Given the description of an element on the screen output the (x, y) to click on. 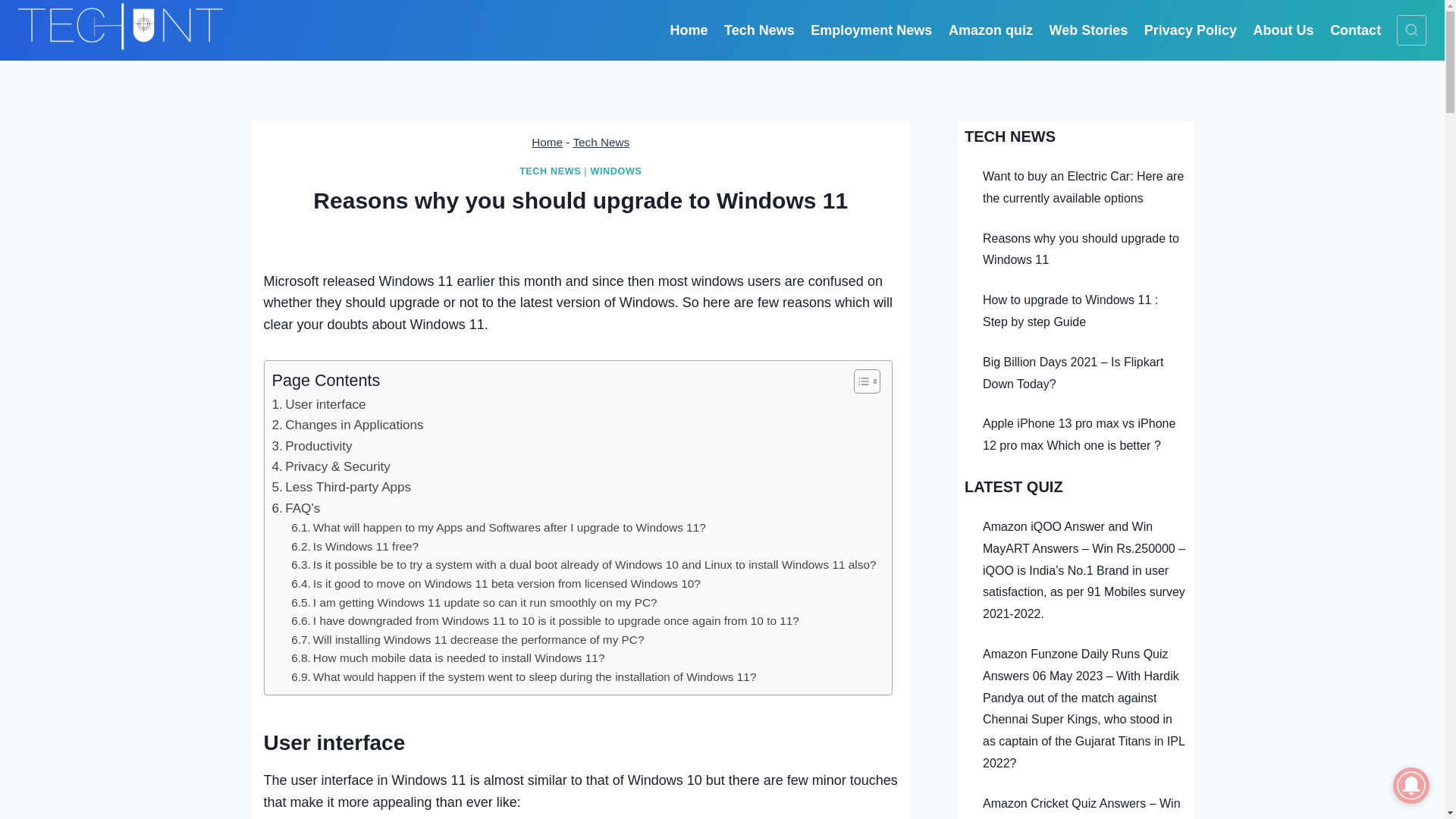
Changes in Applications (346, 424)
Jnyanendra (539, 236)
Productivity (311, 445)
Web Stories (1088, 30)
Tech News (759, 30)
Changes in Applications  (346, 424)
Productivity (311, 445)
Less Third-party Apps (340, 486)
User interface (317, 403)
